Given the description of an element on the screen output the (x, y) to click on. 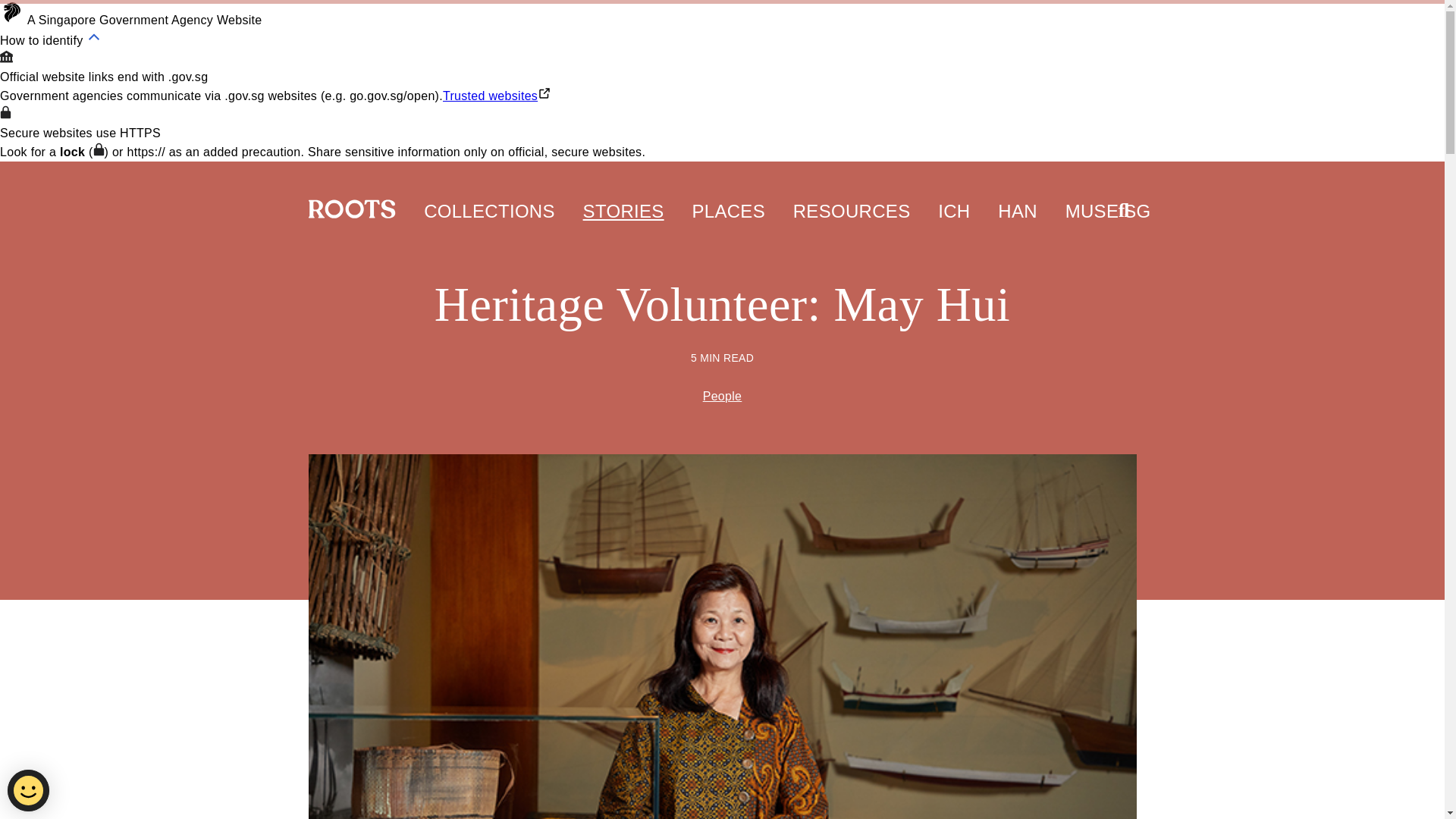
HAN (1016, 200)
ICH (953, 200)
STORIES (623, 200)
PLACES (728, 200)
People (722, 395)
MUSE SG (1108, 200)
RESOURCES (852, 200)
COLLECTIONS (488, 200)
